Given the description of an element on the screen output the (x, y) to click on. 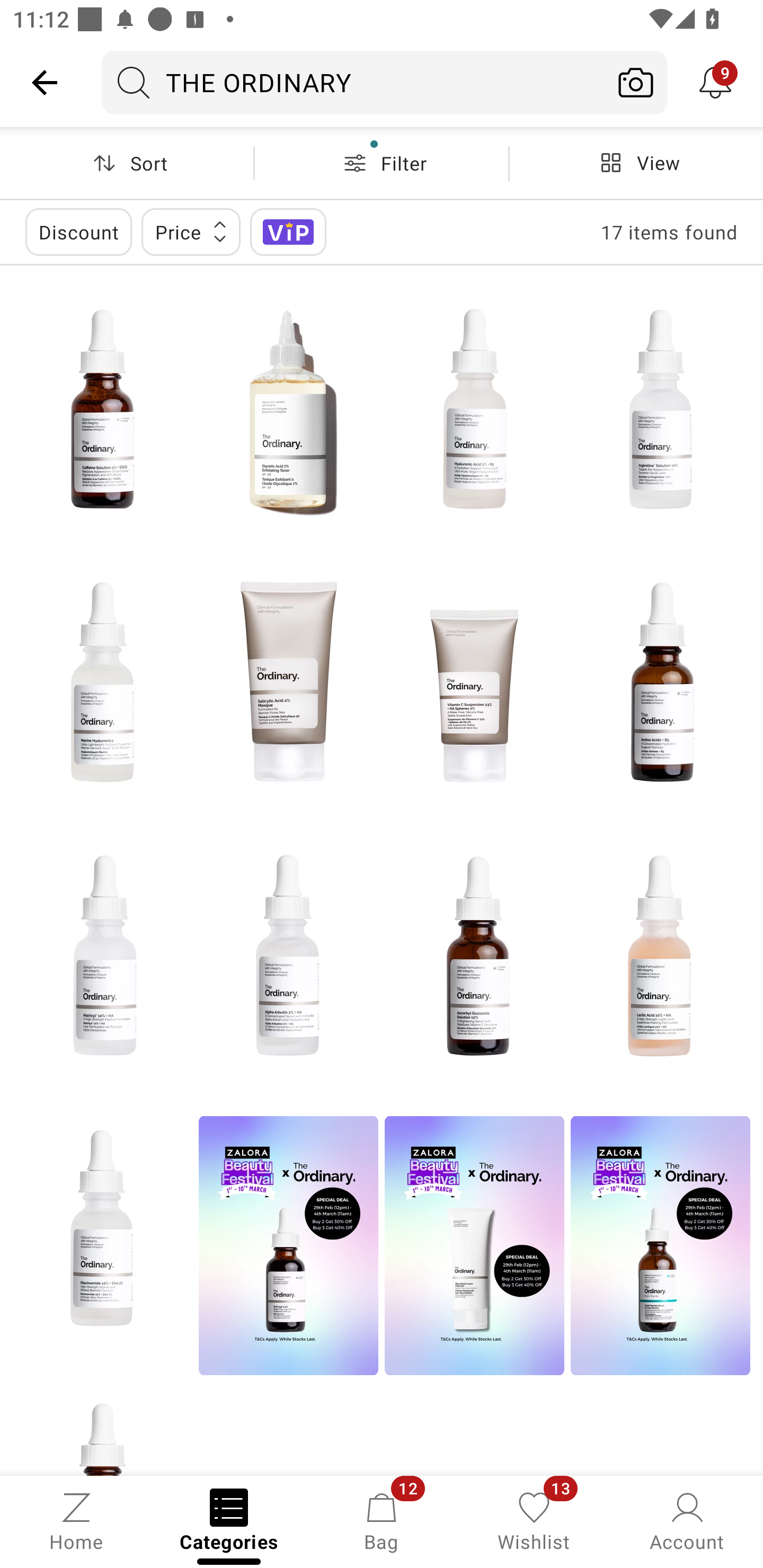
Navigate up (44, 82)
THE ORDINARY (352, 82)
Sort (126, 163)
Filter (381, 163)
View (636, 163)
Discount (78, 231)
Price (190, 231)
Home (76, 1519)
Bag, 12 new notifications Bag (381, 1519)
Wishlist, 13 new notifications Wishlist (533, 1519)
Account (686, 1519)
